Given the description of an element on the screen output the (x, y) to click on. 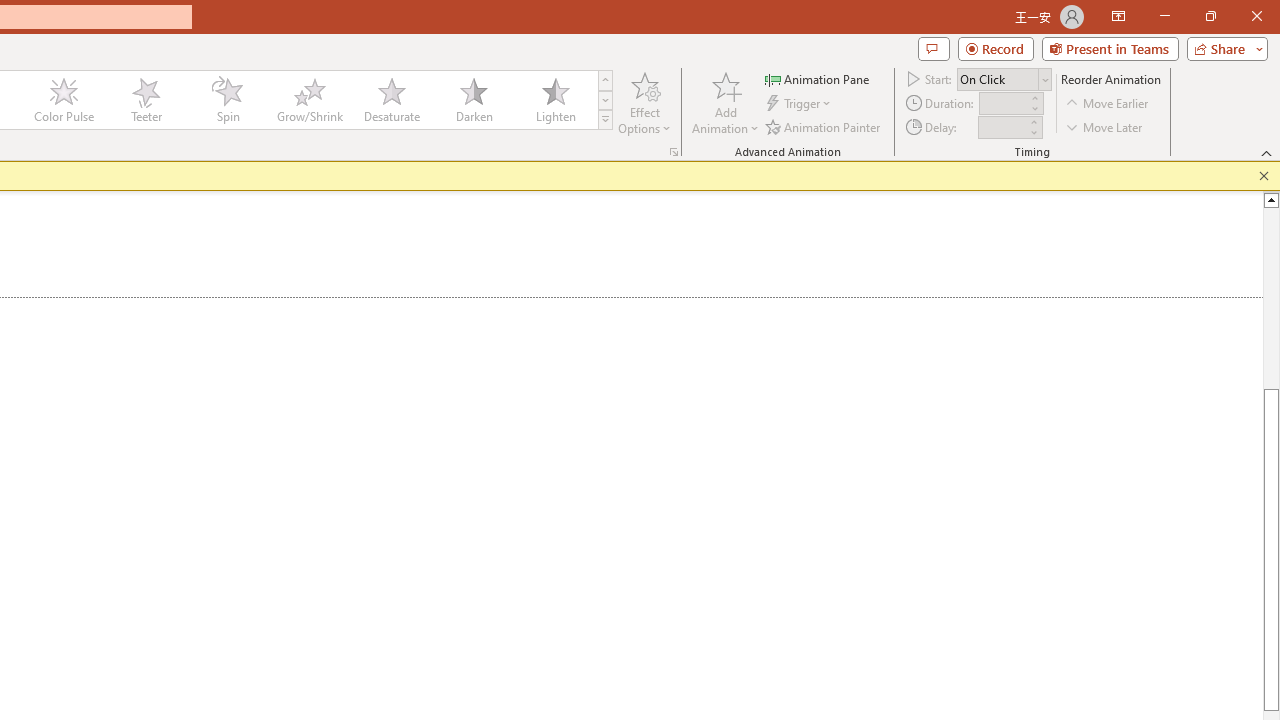
Darken (473, 100)
Animation Delay (1002, 127)
Trigger (799, 103)
Animation Duration (1003, 103)
Add Animation (725, 102)
Move Later (1105, 126)
More Options... (673, 151)
Close this message (1263, 176)
Move Earlier (1107, 103)
Desaturate (391, 100)
